Given the description of an element on the screen output the (x, y) to click on. 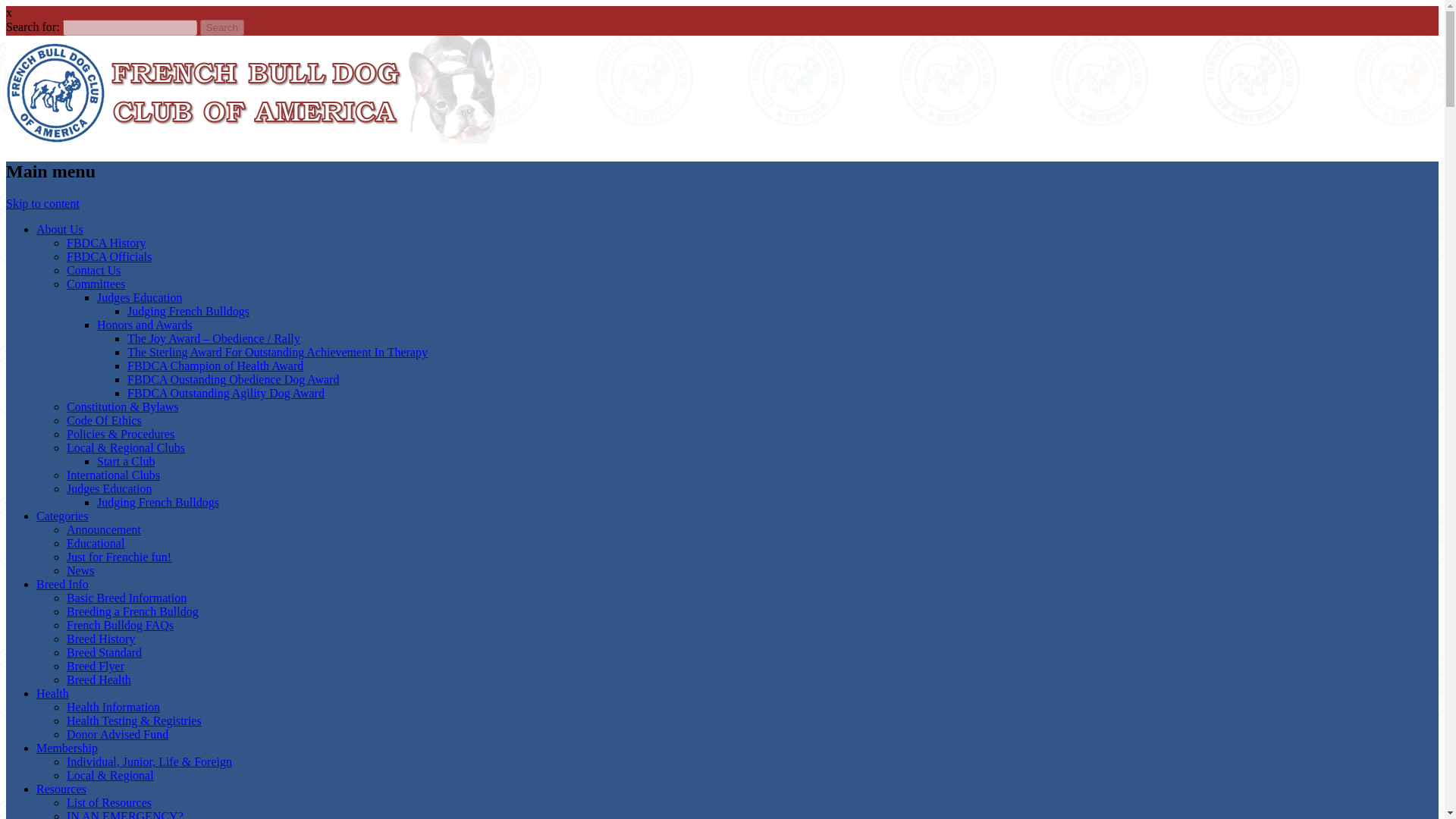
Start a Club (125, 461)
Announcement (103, 529)
Breeding a French Bulldog (132, 611)
About Us (59, 228)
Skip to content (42, 203)
Judging French Bulldogs (158, 502)
French Bull Dog Club of America (251, 138)
Health Information (113, 707)
Contact Us (93, 269)
Search (222, 27)
